Given the description of an element on the screen output the (x, y) to click on. 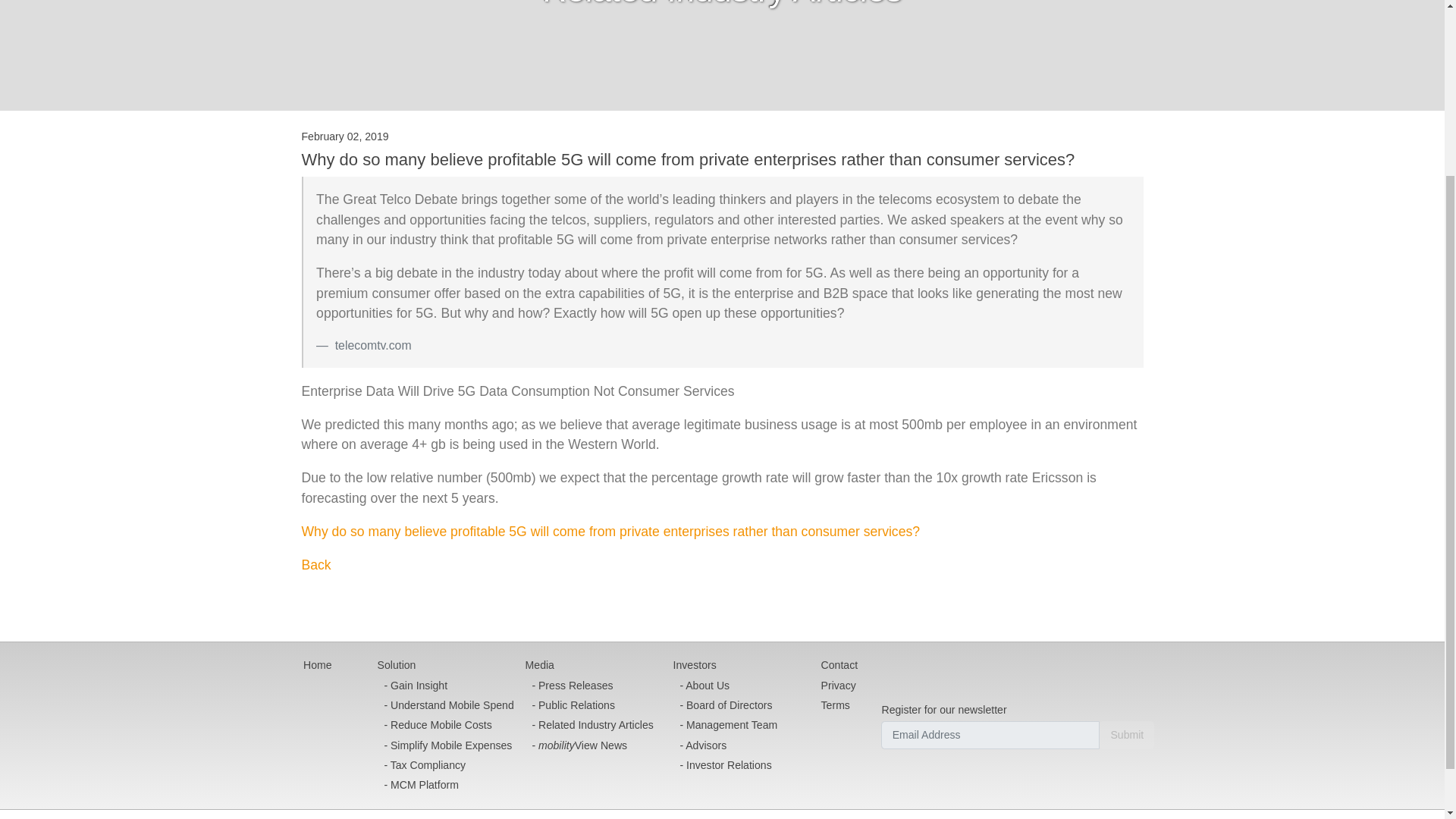
Gain Insight (445, 685)
mobilityView News (589, 745)
Press Releases (589, 685)
About Us (724, 685)
MCM Platform (445, 785)
Understand Mobile Spend (445, 704)
Board of Directors (724, 704)
Tax Compliancy (445, 764)
Home (317, 665)
Back (316, 564)
